Given the description of an element on the screen output the (x, y) to click on. 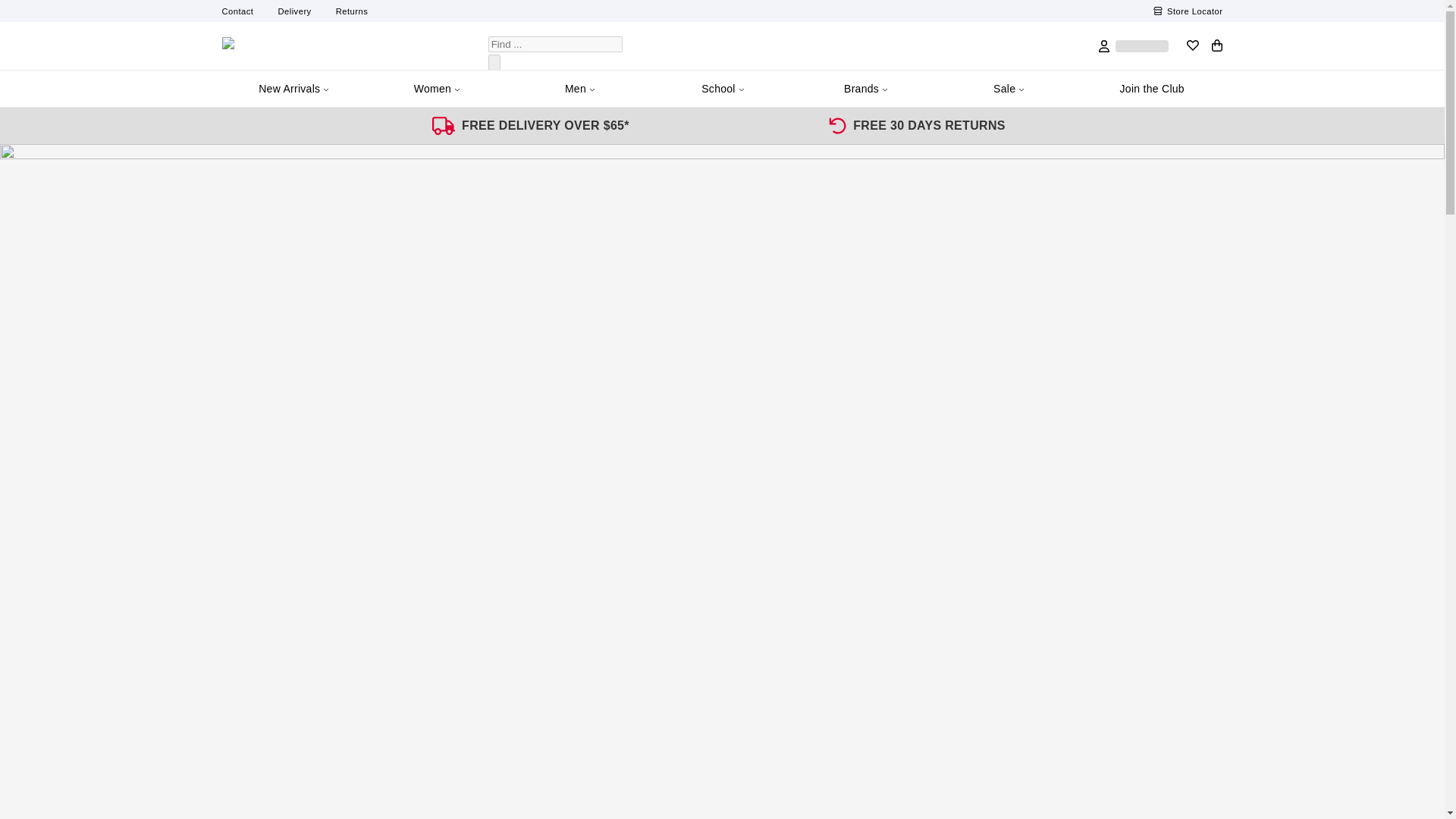
Delivery (294, 10)
My Wishlist (1192, 46)
Women (437, 88)
New Arrivals (293, 88)
Store Locator (1188, 10)
Returns (352, 10)
Contact (237, 10)
